Given the description of an element on the screen output the (x, y) to click on. 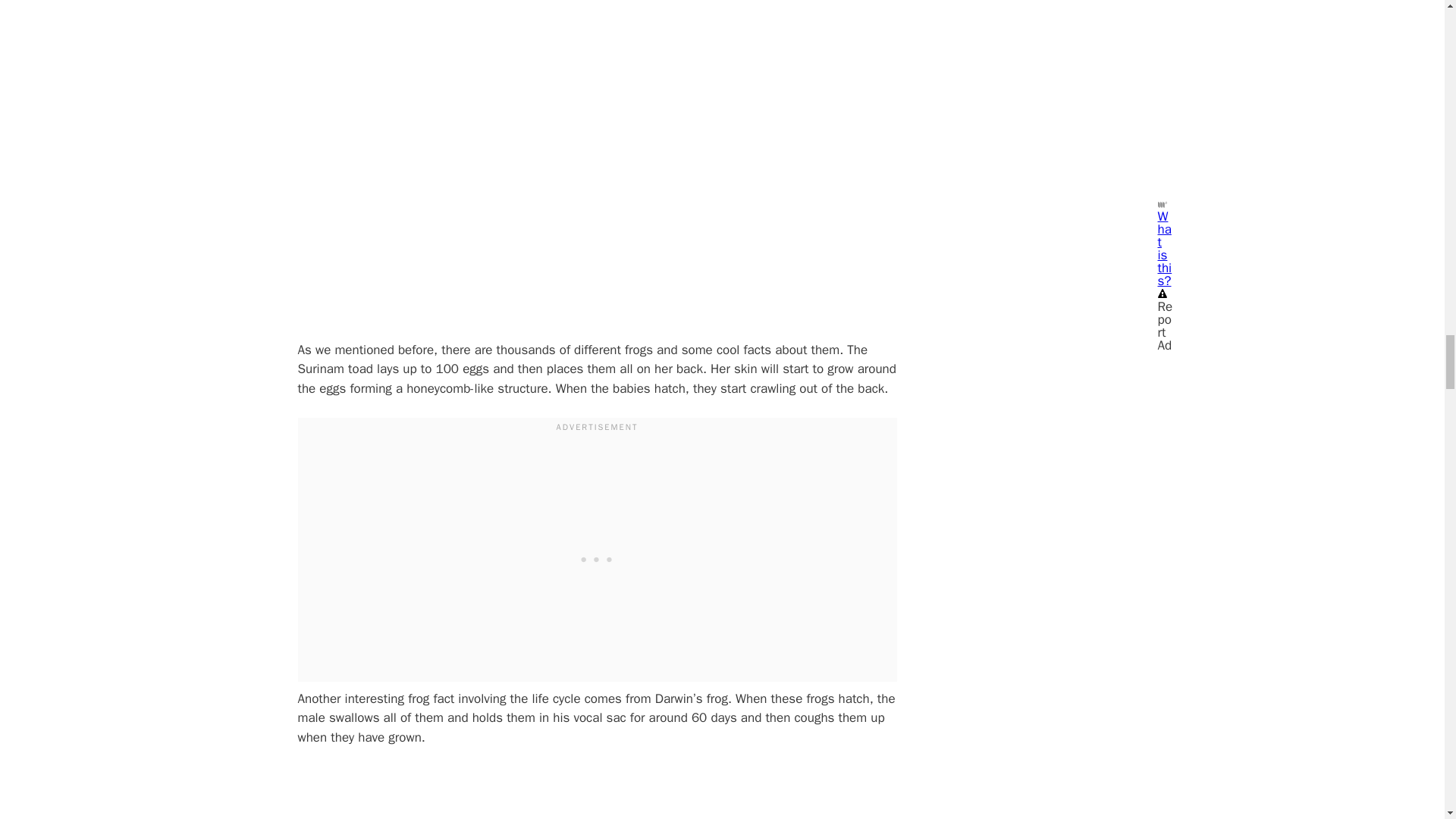
101 Best Tiny Frog Tattoo Ideas That Will Blow Your Mind (468, 157)
did i make it? (468, 792)
